Given the description of an element on the screen output the (x, y) to click on. 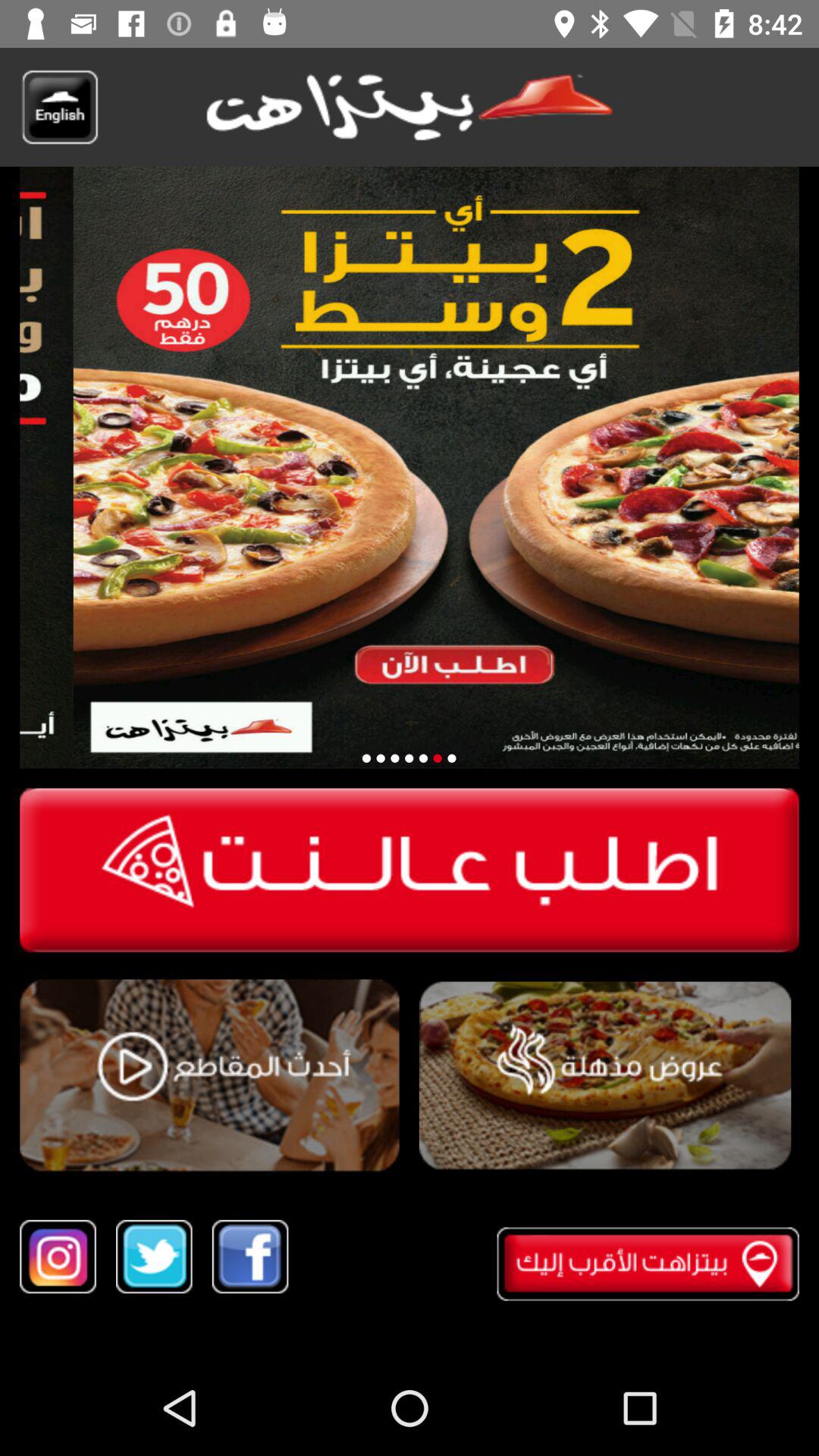
share on twitter (154, 1256)
